Given the description of an element on the screen output the (x, y) to click on. 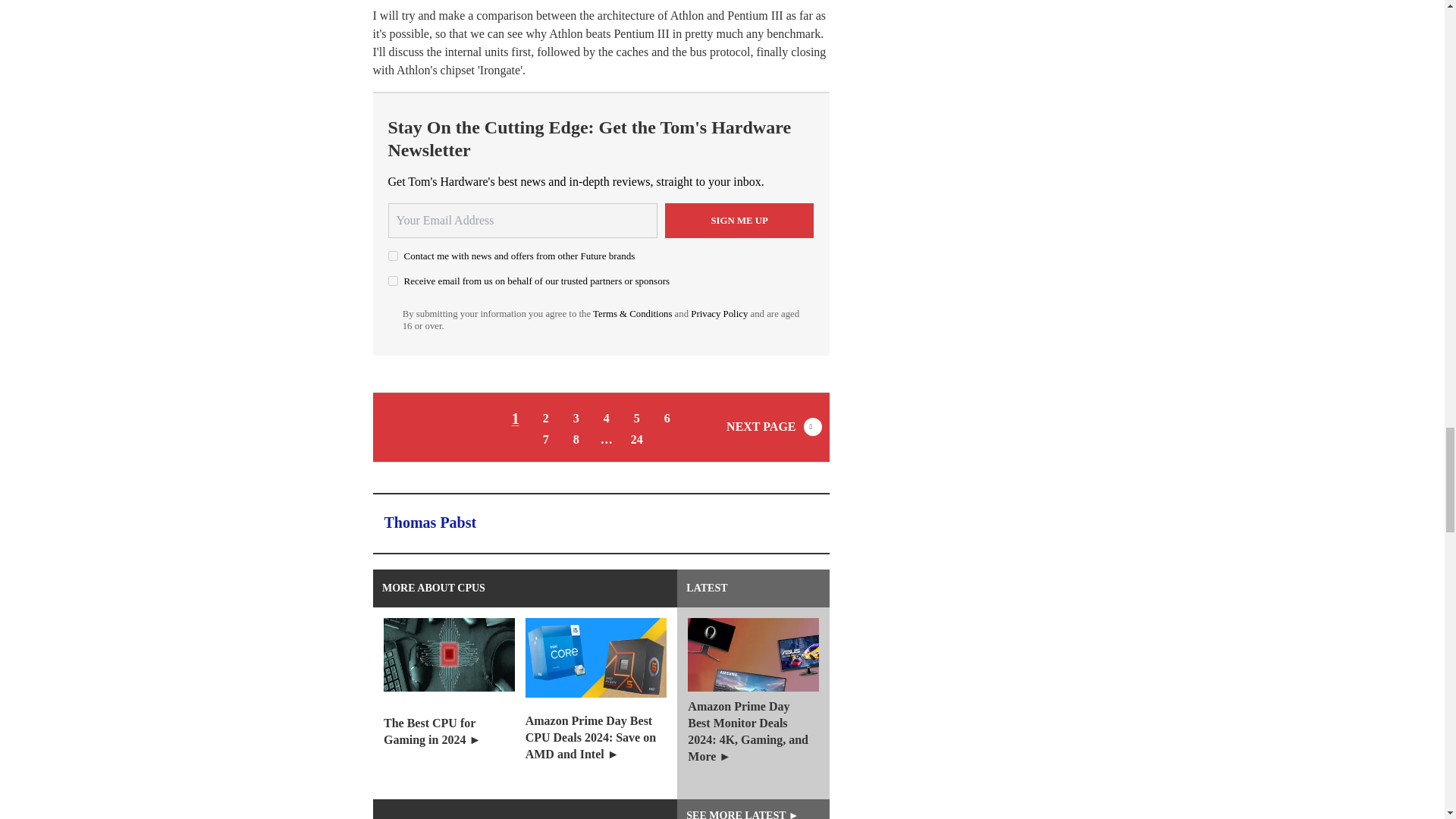
on (392, 280)
on (392, 255)
Sign me up (739, 220)
